Given the description of an element on the screen output the (x, y) to click on. 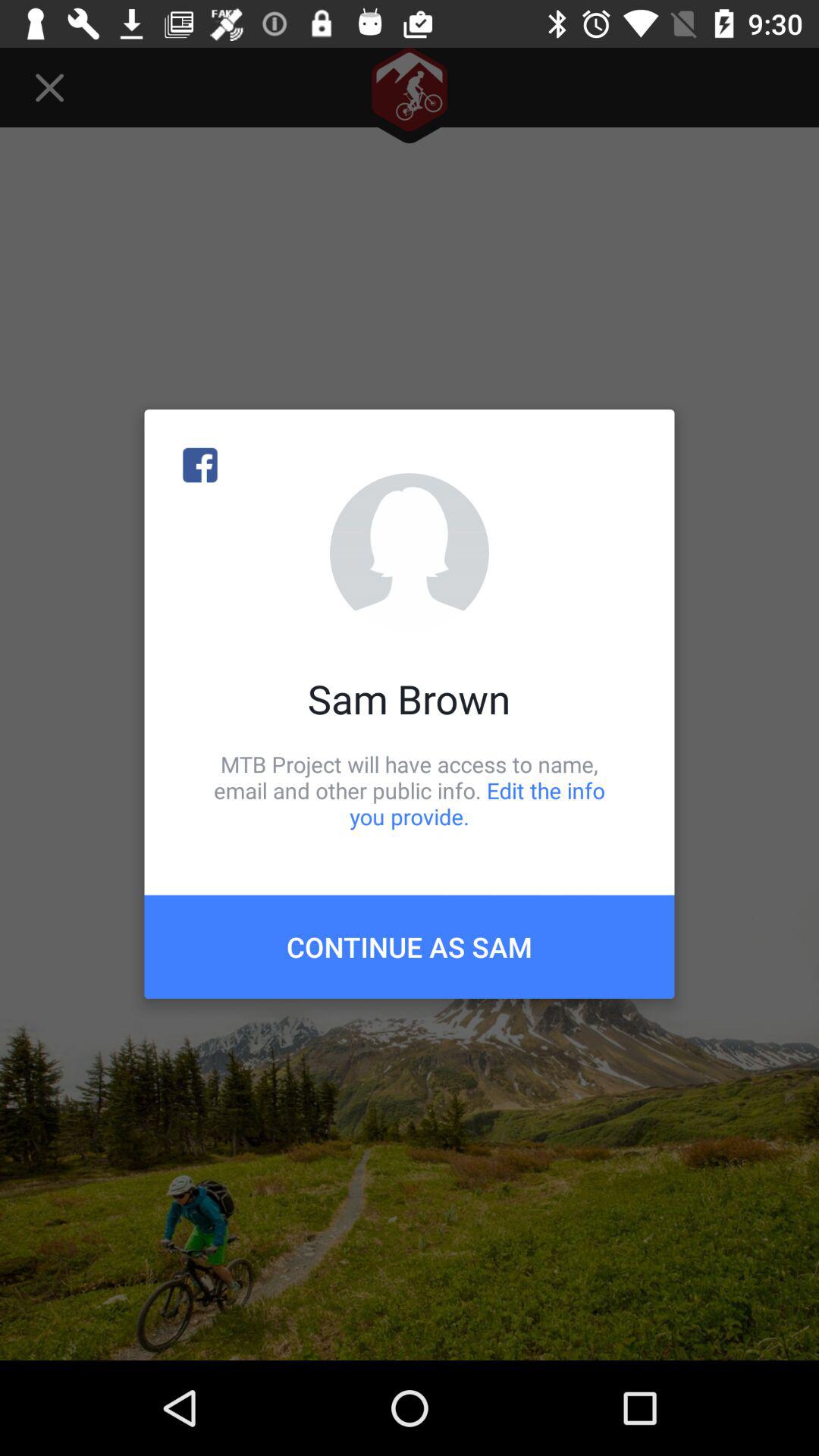
launch the mtb project will item (409, 790)
